Given the description of an element on the screen output the (x, y) to click on. 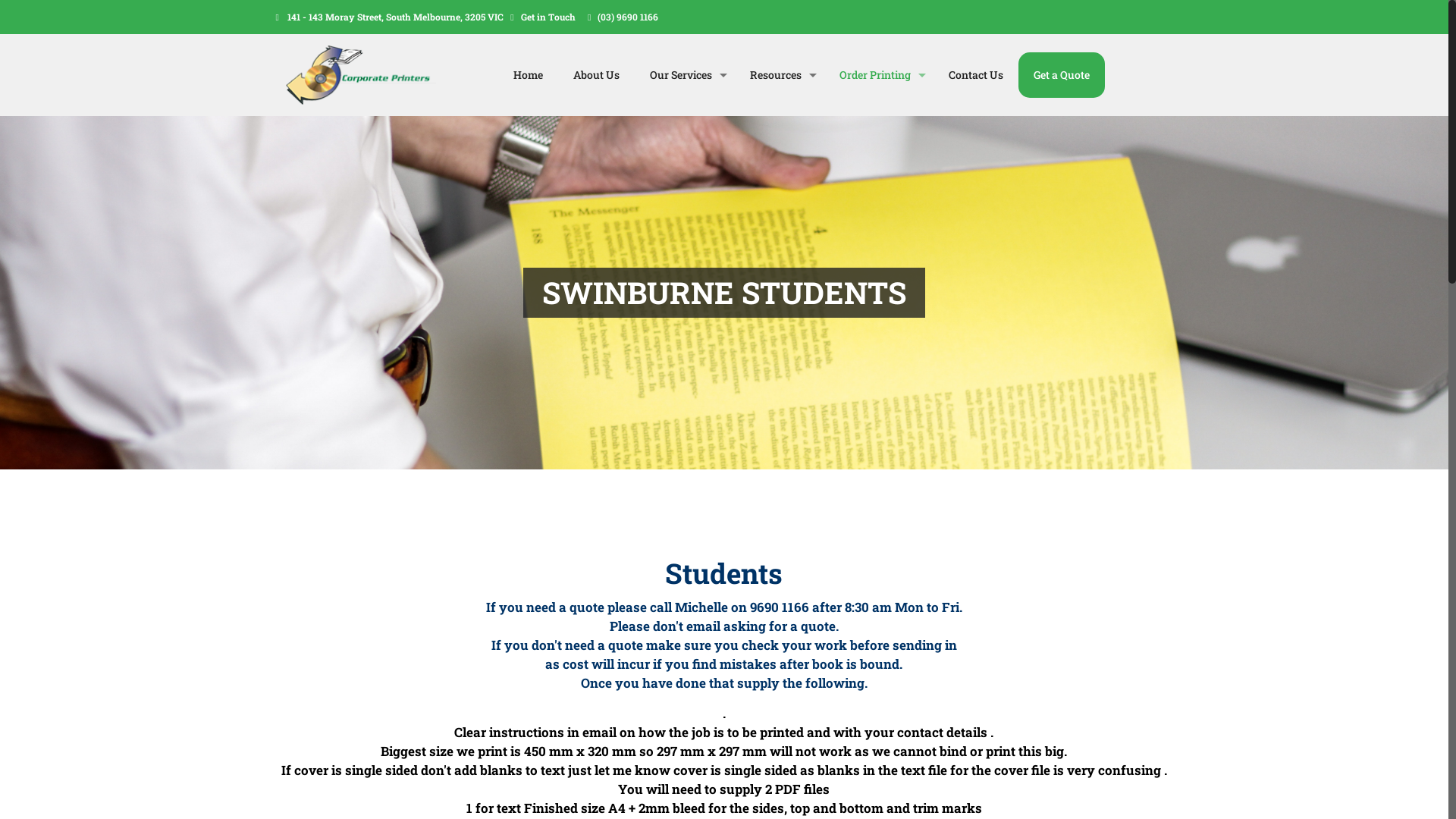
About Us Element type: text (596, 75)
(03) 9690 1166 Element type: text (627, 16)
Resources Element type: text (779, 75)
Order Printing Element type: text (878, 75)
Home Element type: text (528, 75)
Get a Quote Element type: text (1061, 75)
Corporate Printers Element type: hover (360, 75)
Our Services Element type: text (684, 75)
Get in Touch Element type: text (547, 16)
Contact Us Element type: text (975, 75)
